Given the description of an element on the screen output the (x, y) to click on. 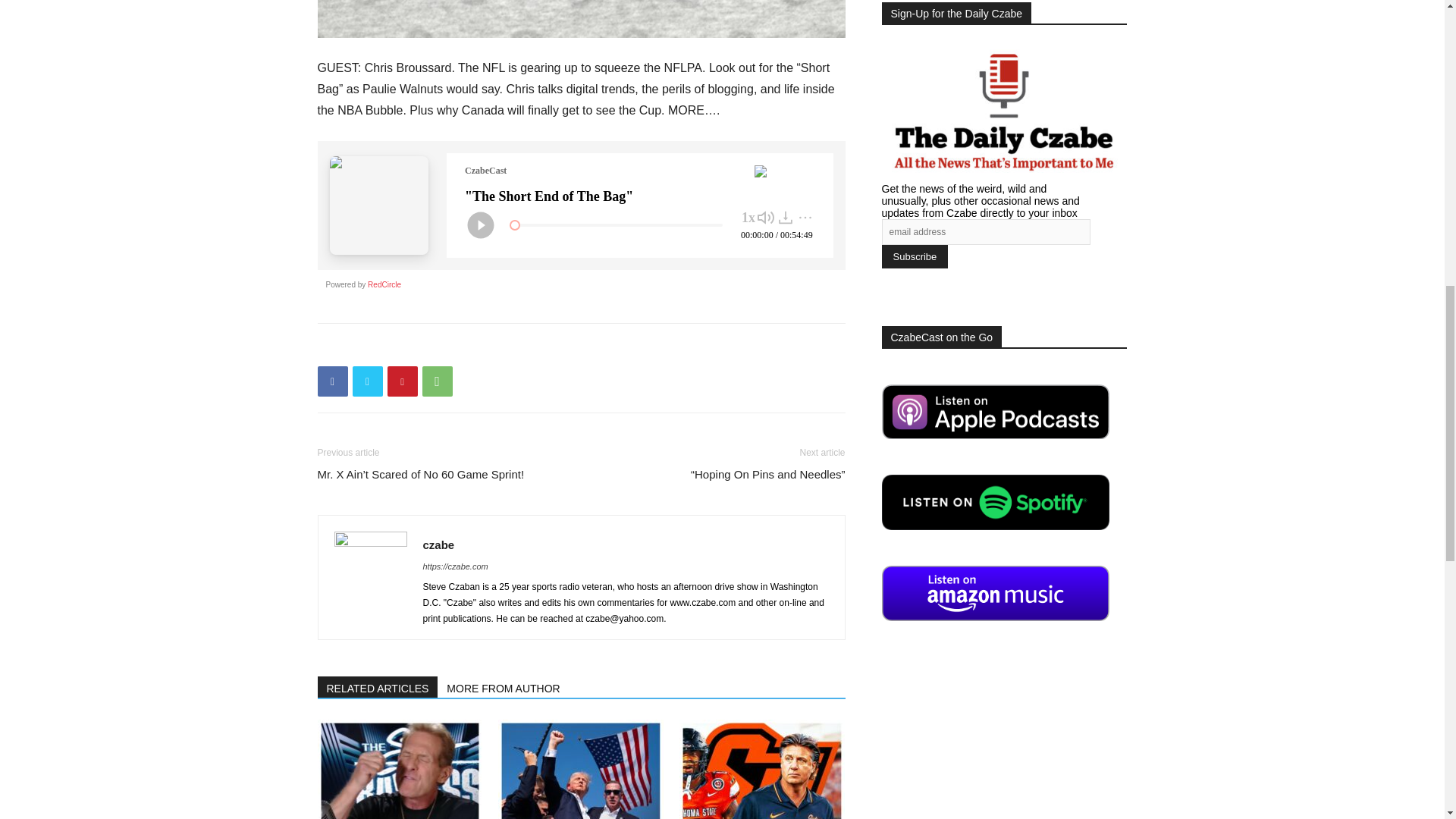
Twitter (366, 381)
RedCircle (384, 284)
Facebook (332, 381)
Subscribe (913, 256)
bottomFacebookLike (430, 347)
Pinterest (401, 381)
WhatsApp (436, 381)
PAULIE WALNUTS (580, 18)
